Given the description of an element on the screen output the (x, y) to click on. 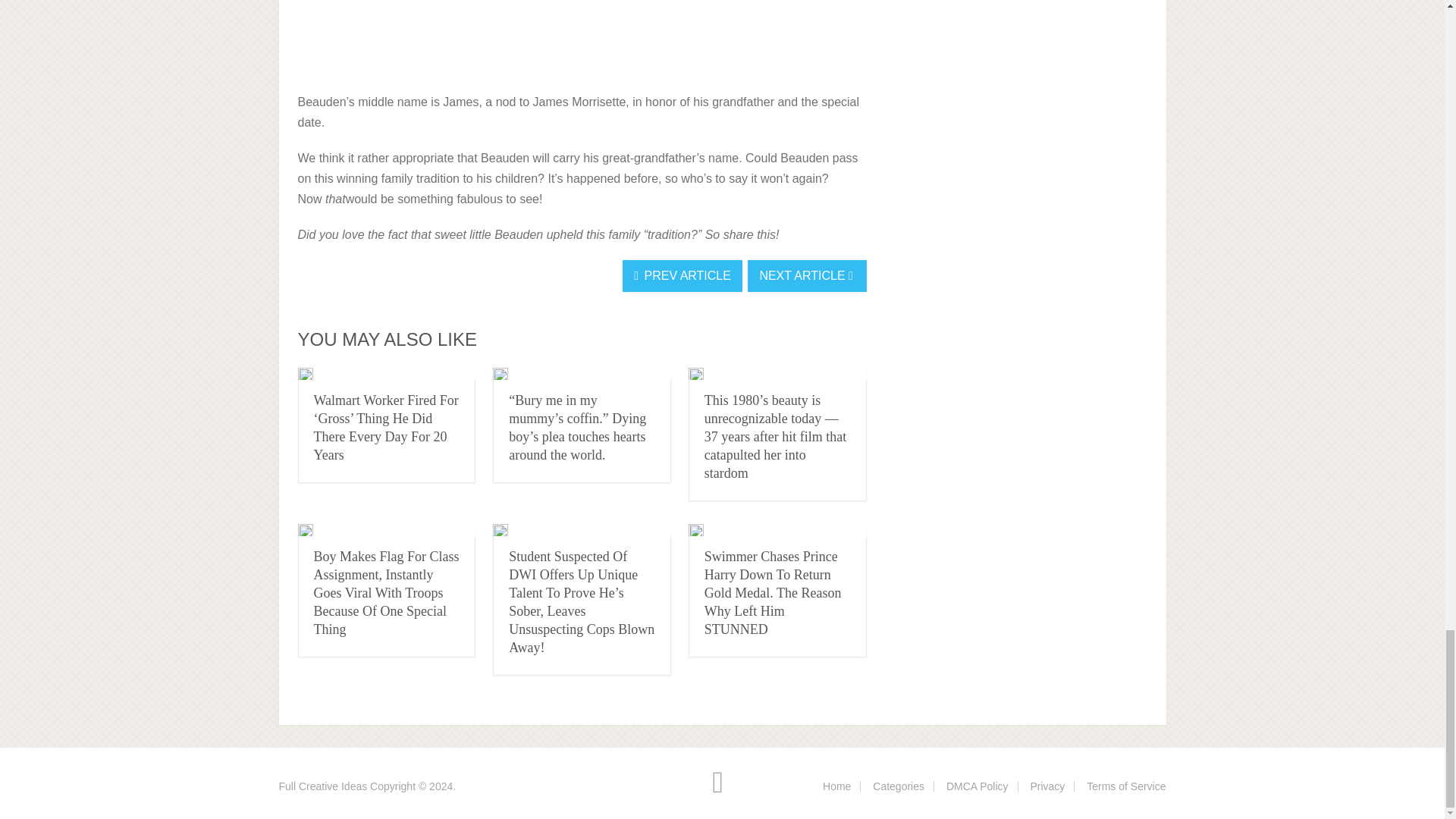
Privacy (1046, 786)
Full Creative Ideas (323, 786)
NEXT ARTICLE (807, 275)
Categories (898, 786)
DMCA Policy (977, 786)
Home (836, 786)
PREV ARTICLE (682, 275)
